Given the description of an element on the screen output the (x, y) to click on. 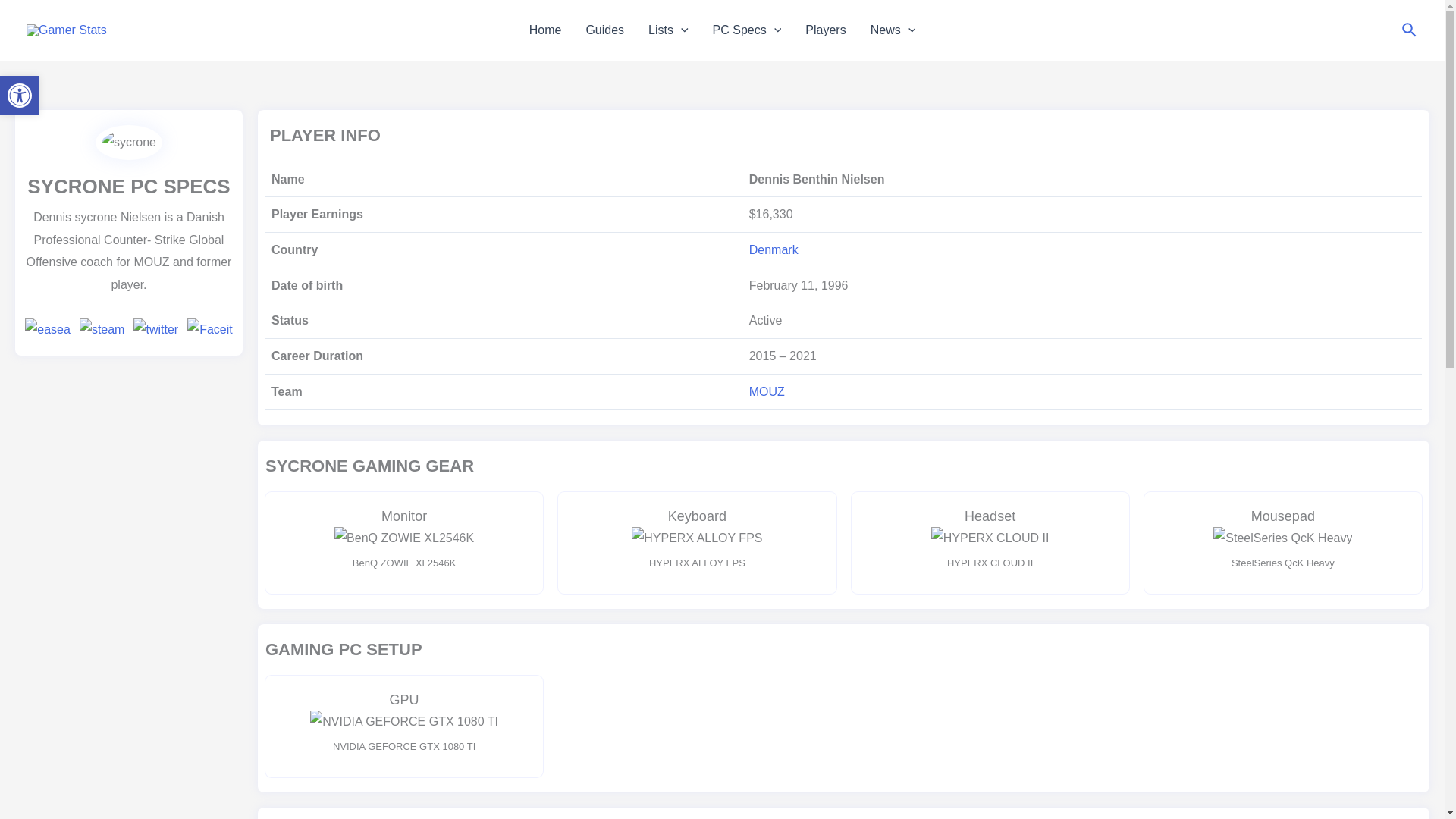
Lists (668, 30)
Accessibility Tools (19, 95)
NVIDIA GEFORCE GTX 1080 TI (403, 721)
News (19, 95)
Players (893, 30)
Guides (825, 30)
BenQ ZOWIE XL2546K (604, 30)
sycrone (404, 538)
HYPERX ALLOY FPS (128, 142)
